Given the description of an element on the screen output the (x, y) to click on. 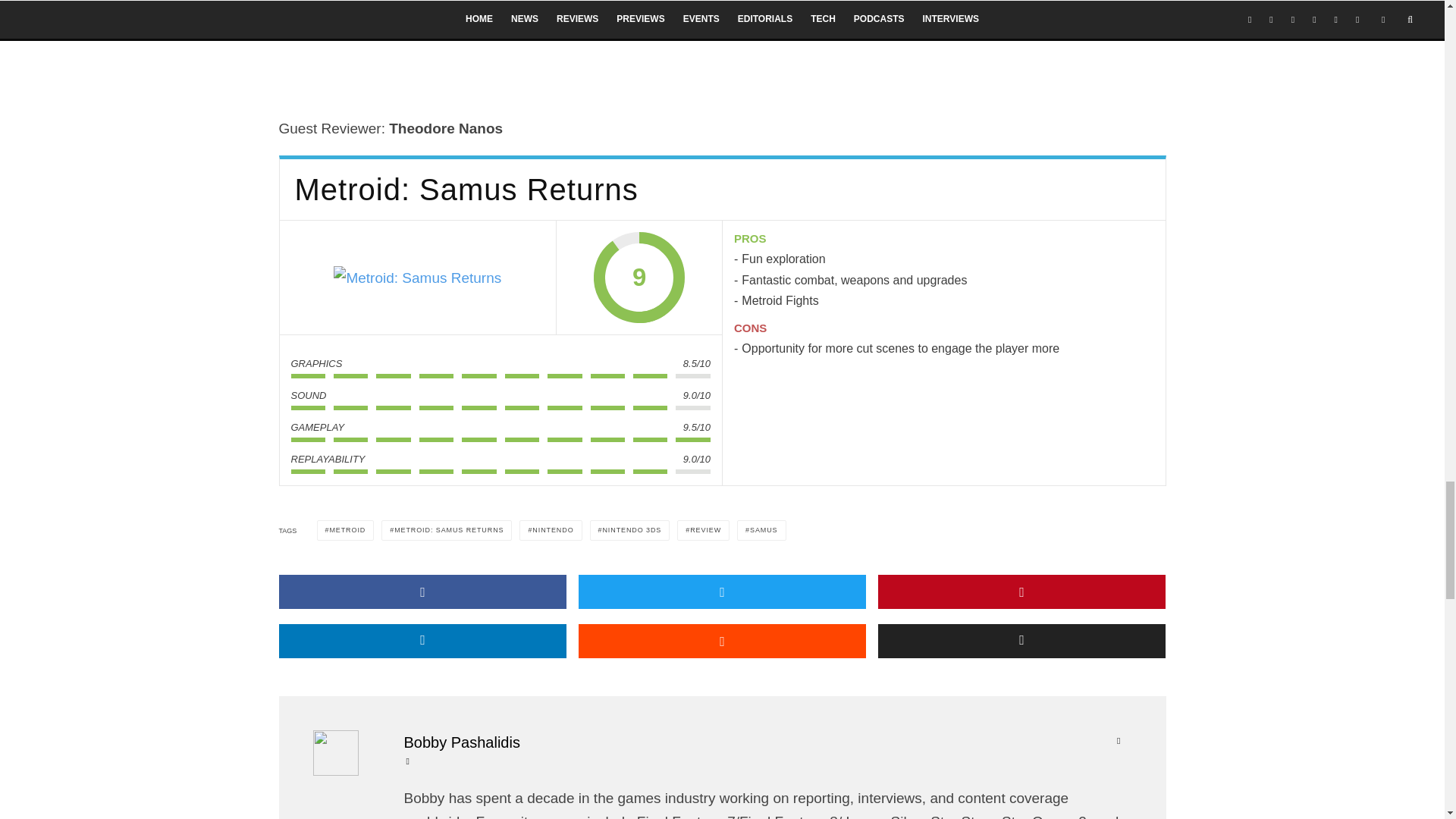
Metroid: Samus Returns (416, 278)
